Given the description of an element on the screen output the (x, y) to click on. 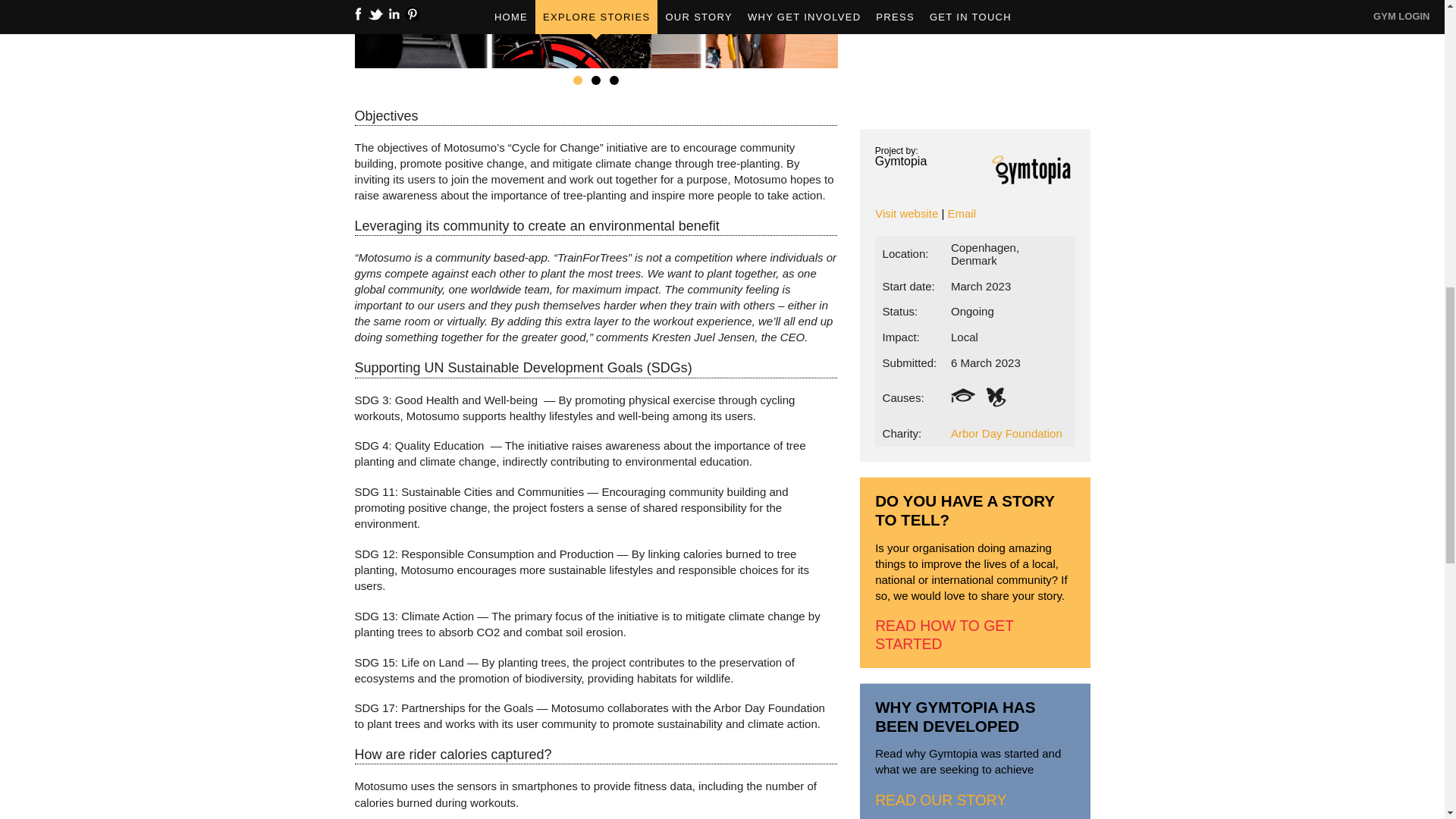
Motosumo Cycle for Change (596, 34)
Education (962, 395)
Environment (995, 395)
